Given the description of an element on the screen output the (x, y) to click on. 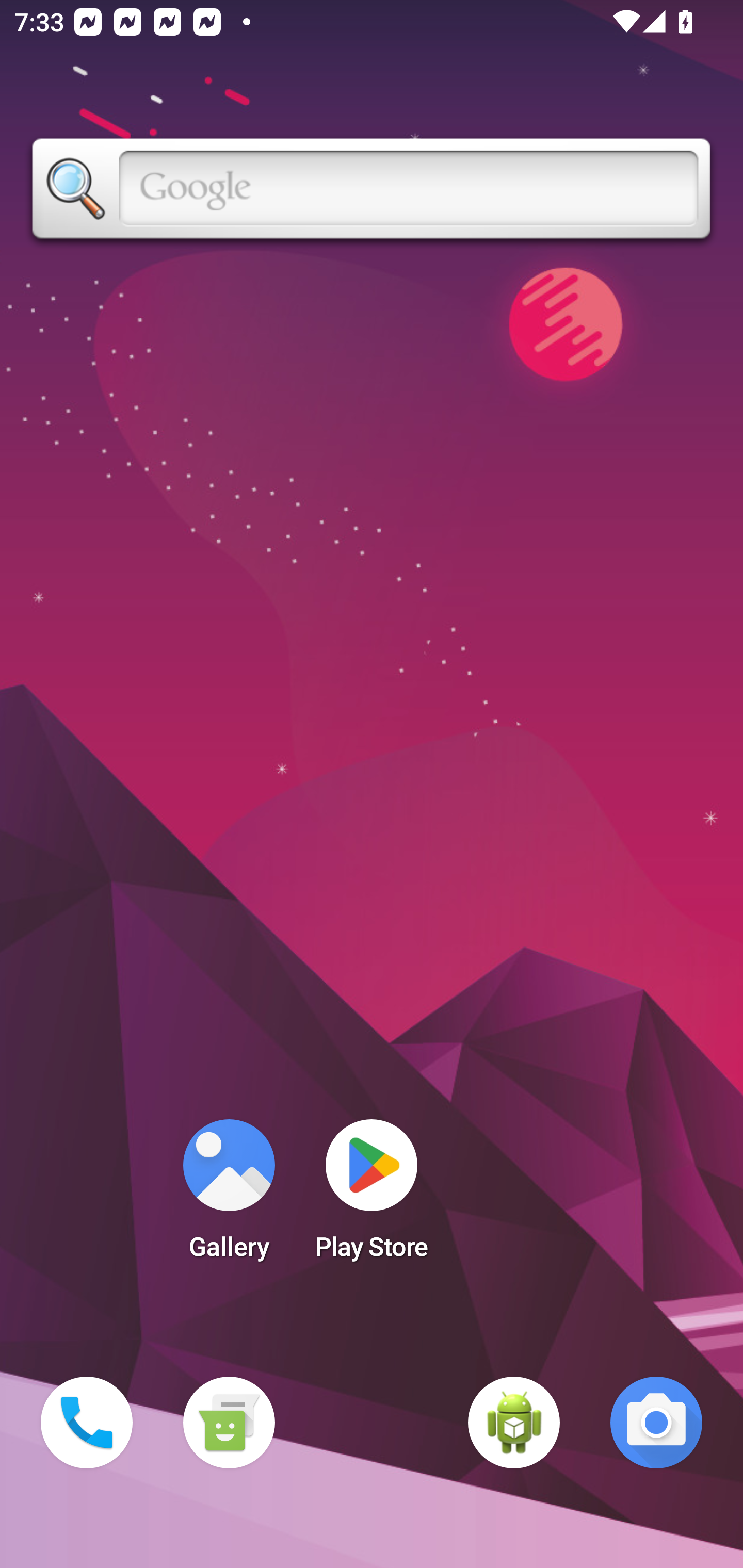
Gallery (228, 1195)
Play Store (371, 1195)
Phone (86, 1422)
Messaging (228, 1422)
WebView Browser Tester (513, 1422)
Camera (656, 1422)
